Given the description of an element on the screen output the (x, y) to click on. 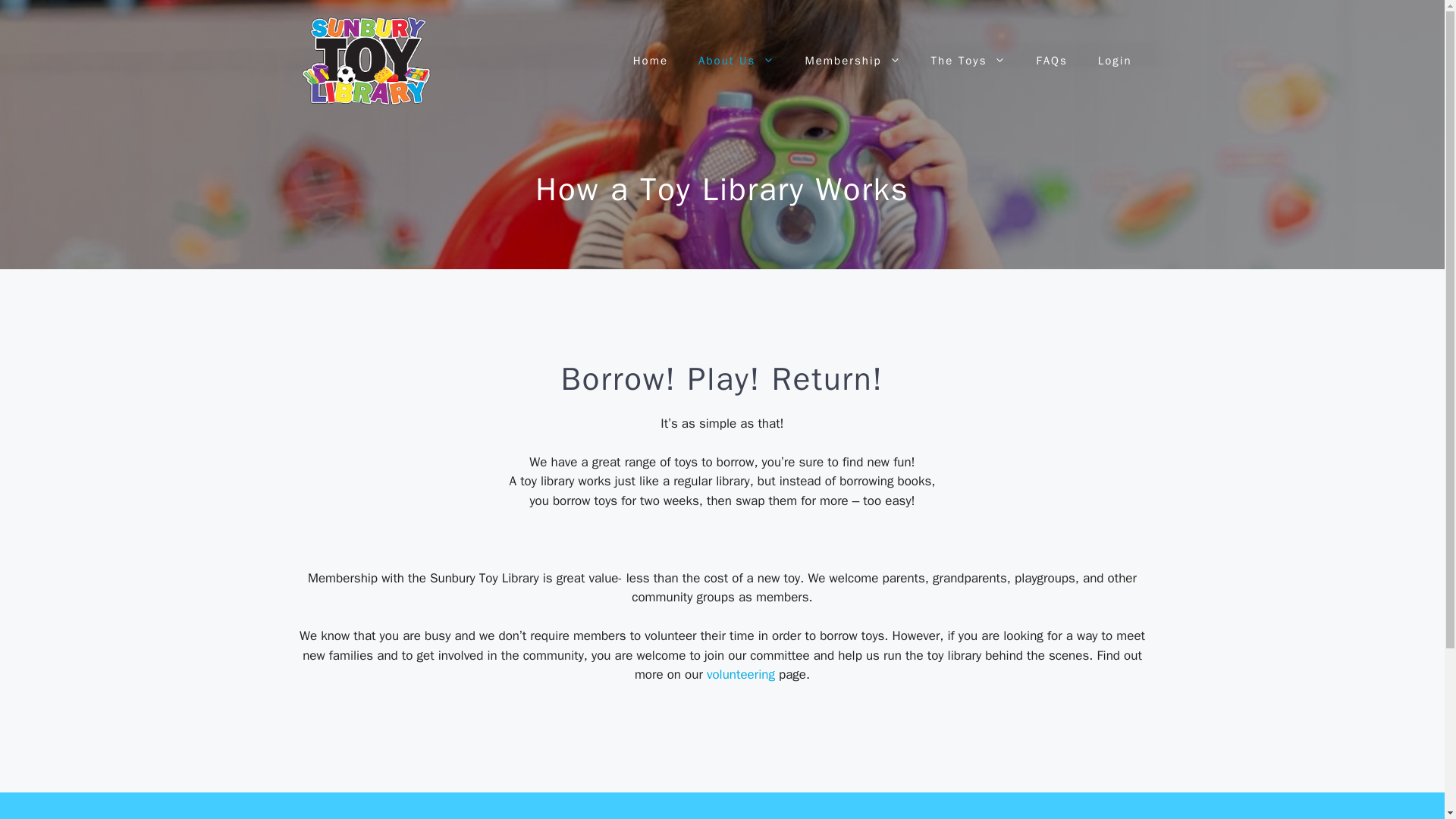
The Toys (968, 60)
Home (649, 60)
Sunbury Toy Library (365, 61)
Login (1115, 60)
FAQs (1050, 60)
About Us (735, 60)
Sunbury Toy Library (365, 59)
Membership (852, 60)
volunteering (740, 674)
